Given the description of an element on the screen output the (x, y) to click on. 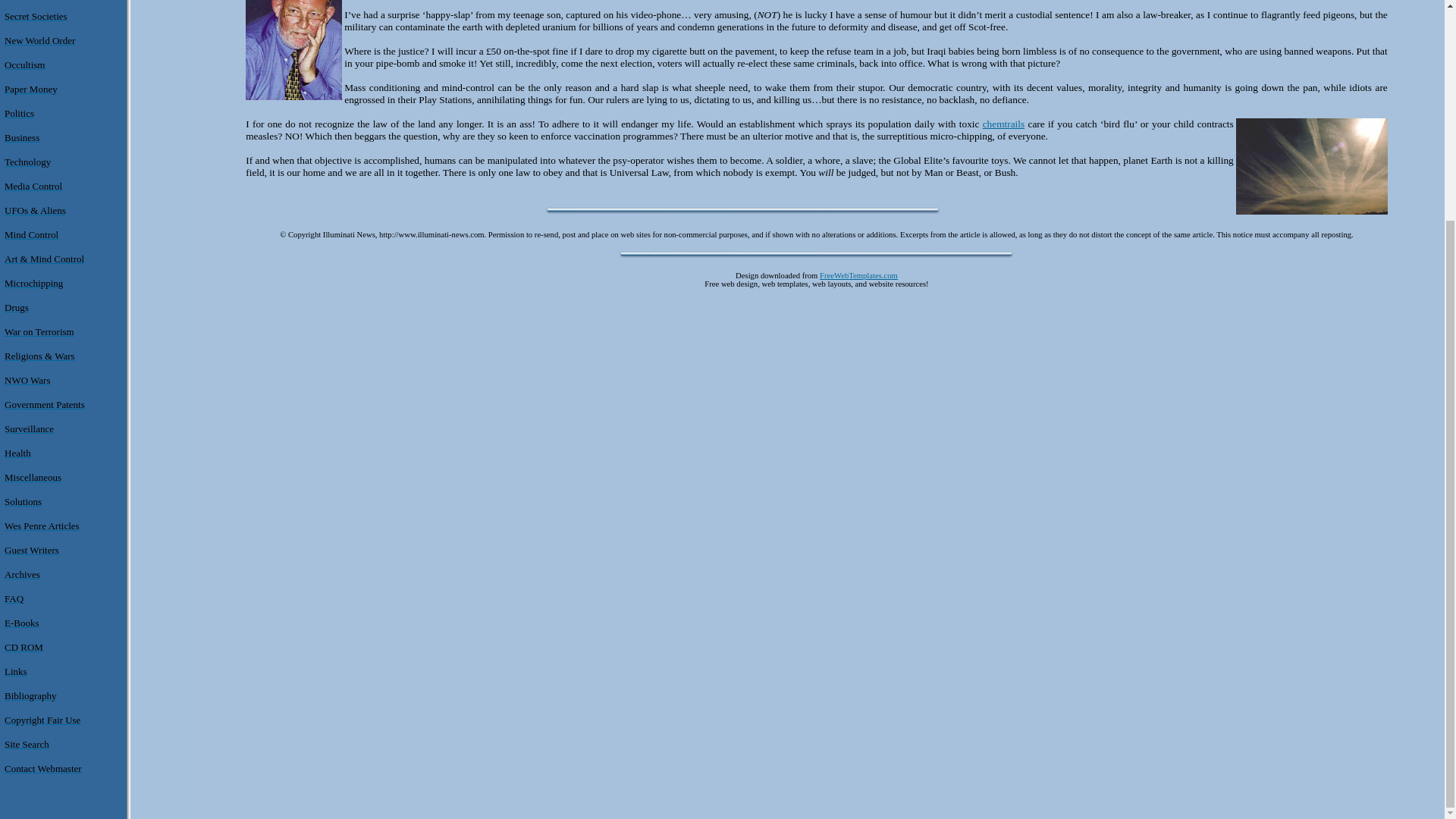
Paper Money (31, 89)
Occultism (24, 64)
CD ROM (23, 646)
Mind Control (31, 234)
Surveillance (28, 428)
Secret Societies (35, 16)
Health (17, 452)
New World Order (39, 40)
War on Terrorism (39, 331)
Business (21, 137)
Archives (22, 573)
Site Search (26, 744)
Miscellaneous (32, 477)
Guest Writers (31, 550)
Media Control (33, 185)
